Given the description of an element on the screen output the (x, y) to click on. 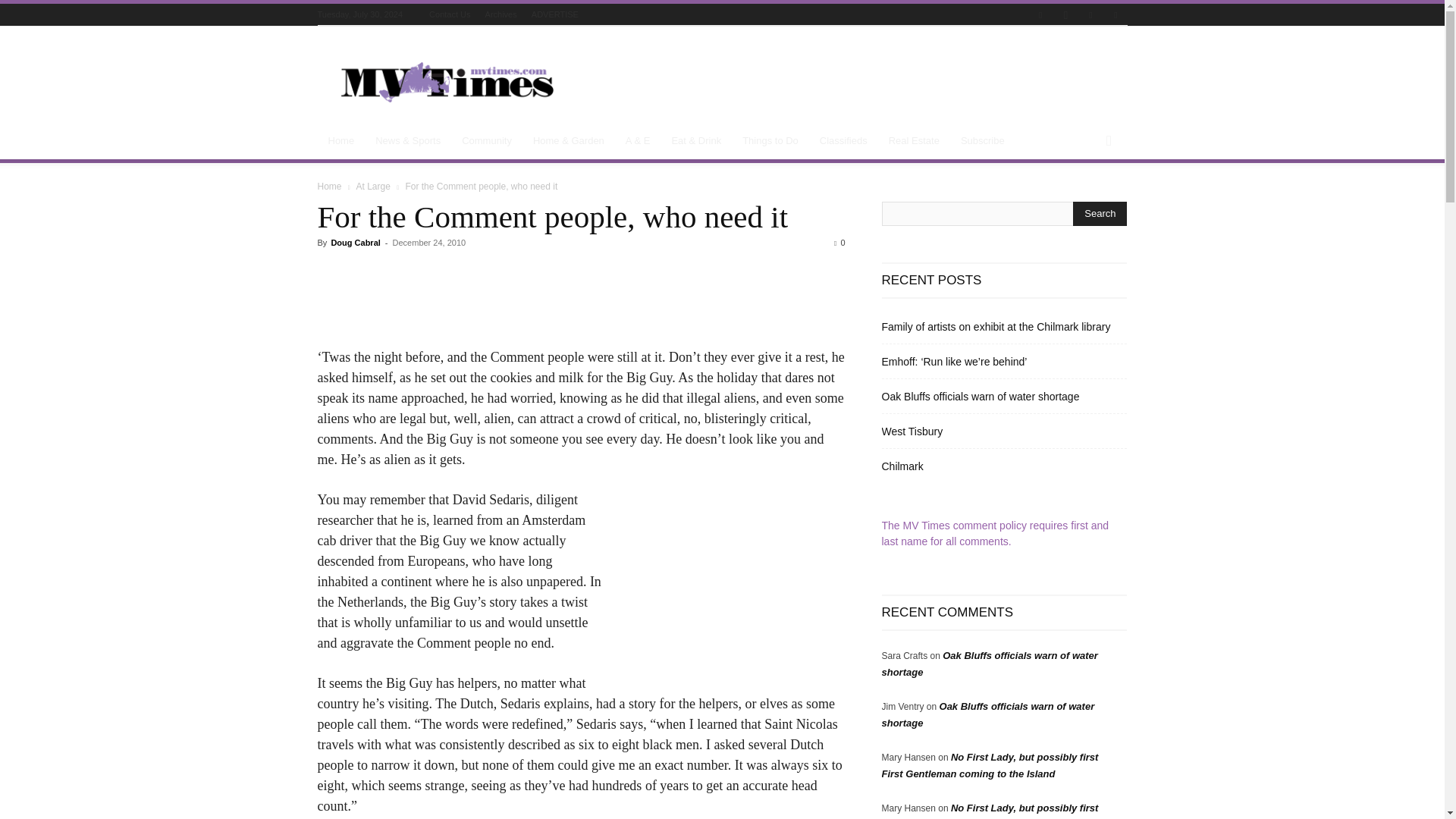
Subscribe (982, 140)
Classifieds (843, 140)
Things to Do (770, 140)
Archives (500, 13)
Search (1099, 213)
Facebook (1040, 14)
Twitter (1090, 14)
Instagram (1065, 14)
Community (486, 140)
Home (341, 140)
ADVERTISE (554, 13)
Youtube (1114, 14)
View all posts in At Large (372, 185)
Contact Us (449, 13)
Real Estate (913, 140)
